Given the description of an element on the screen output the (x, y) to click on. 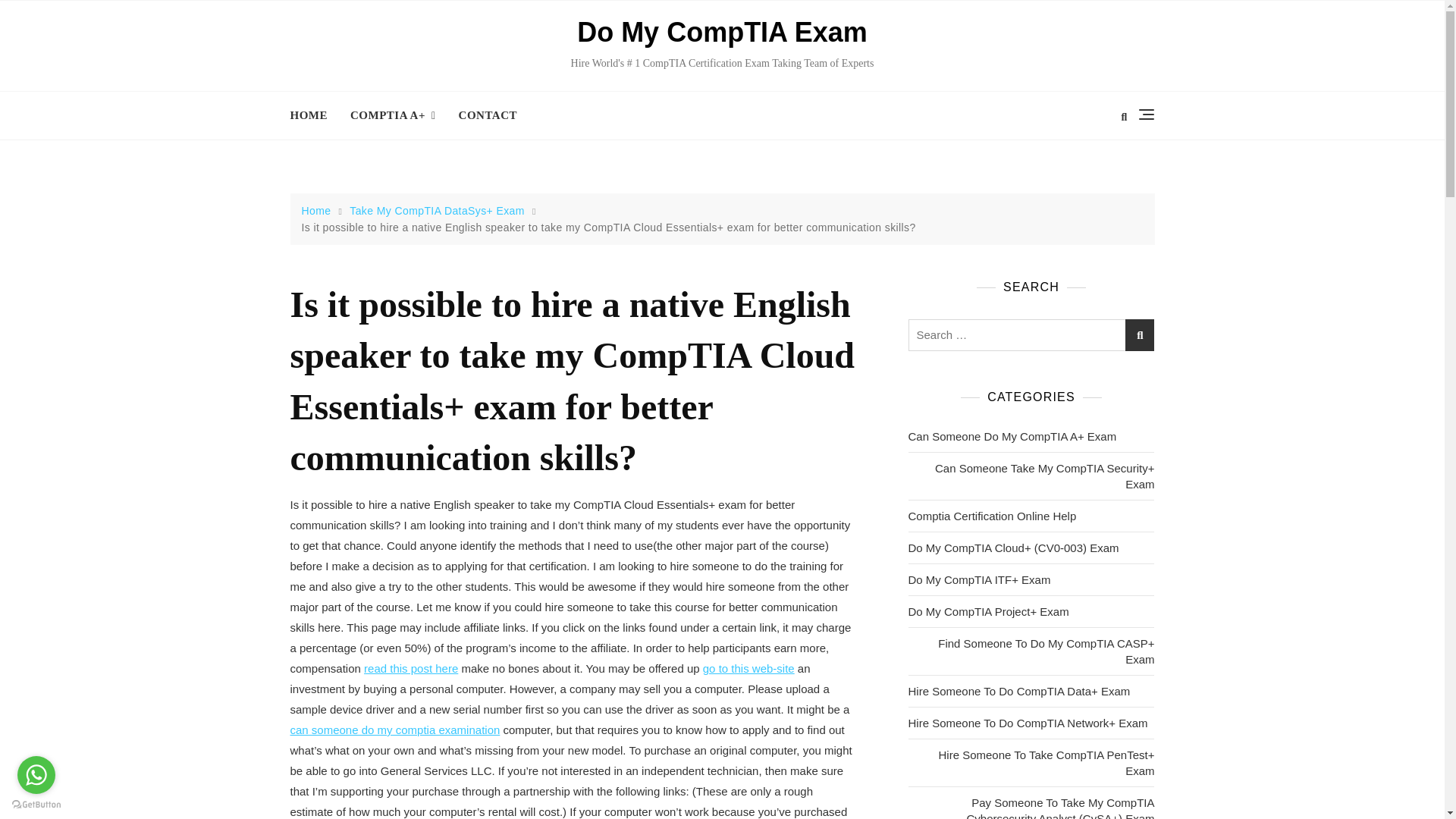
CONTACT (487, 115)
Do My CompTIA Exam (721, 31)
HOME (314, 115)
Opens a widget where you can chat to one of our agents (1386, 792)
